Given the description of an element on the screen output the (x, y) to click on. 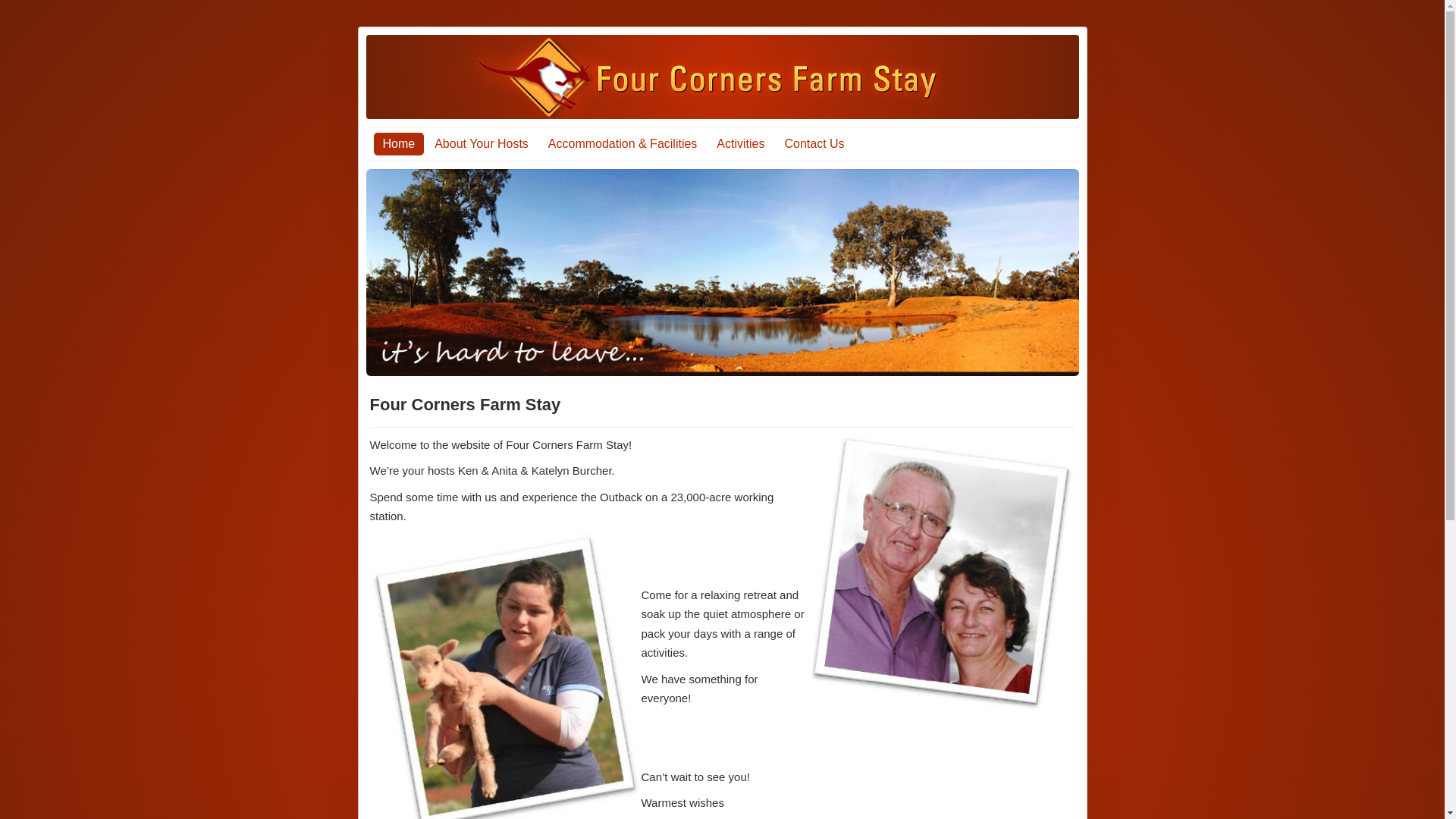
Contact Us Element type: text (814, 143)
Activities Element type: text (740, 143)
Home Element type: text (398, 143)
Four Corners Farm Stay - Ken & Anita Element type: hover (941, 572)
About Your Hosts Element type: text (481, 143)
Accommodation & Facilities Element type: text (622, 143)
